Given the description of an element on the screen output the (x, y) to click on. 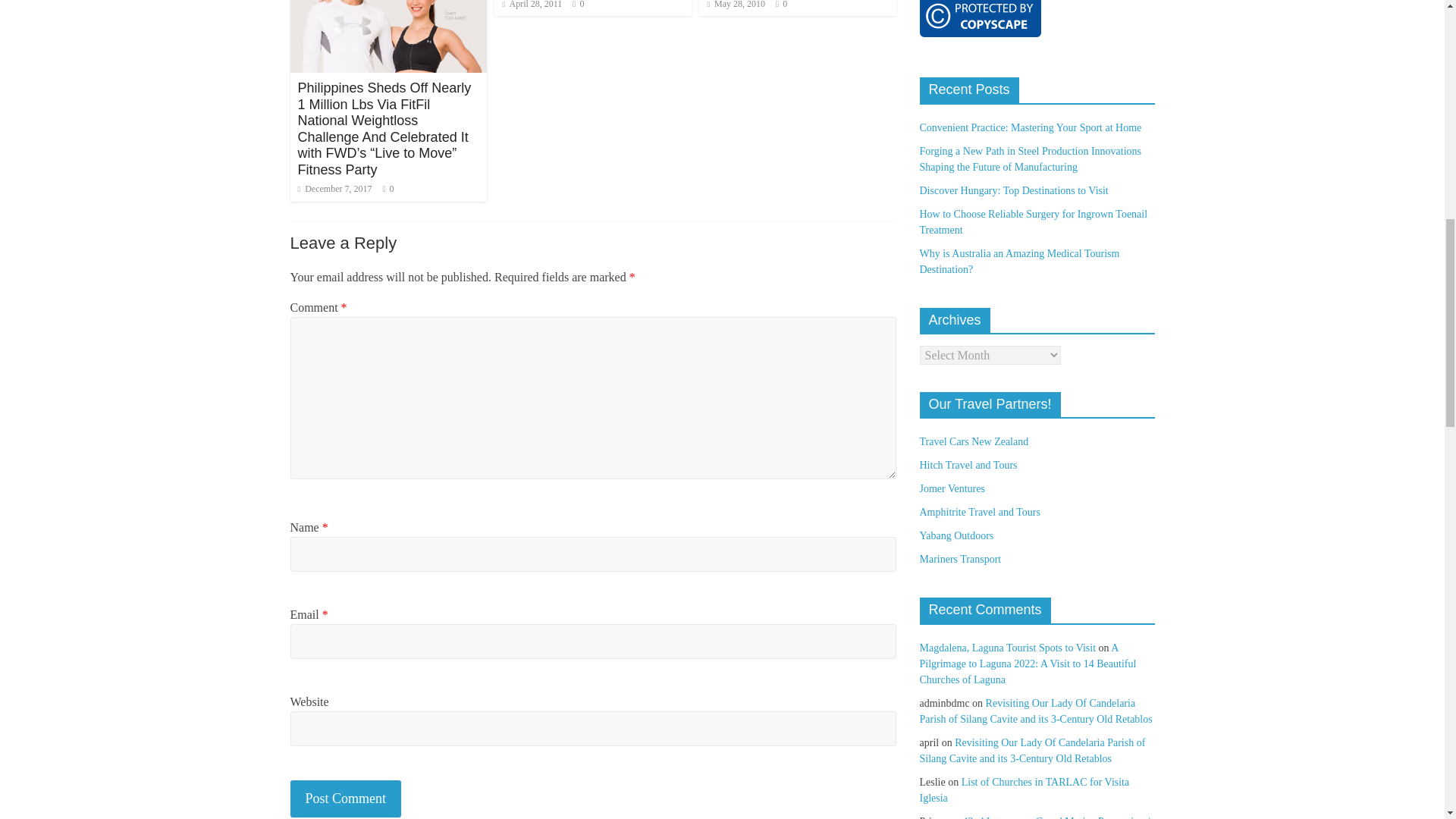
Post Comment (345, 798)
December 7, 2017 (334, 188)
9:06 pm (334, 188)
April 28, 2011 (532, 4)
